Given the description of an element on the screen output the (x, y) to click on. 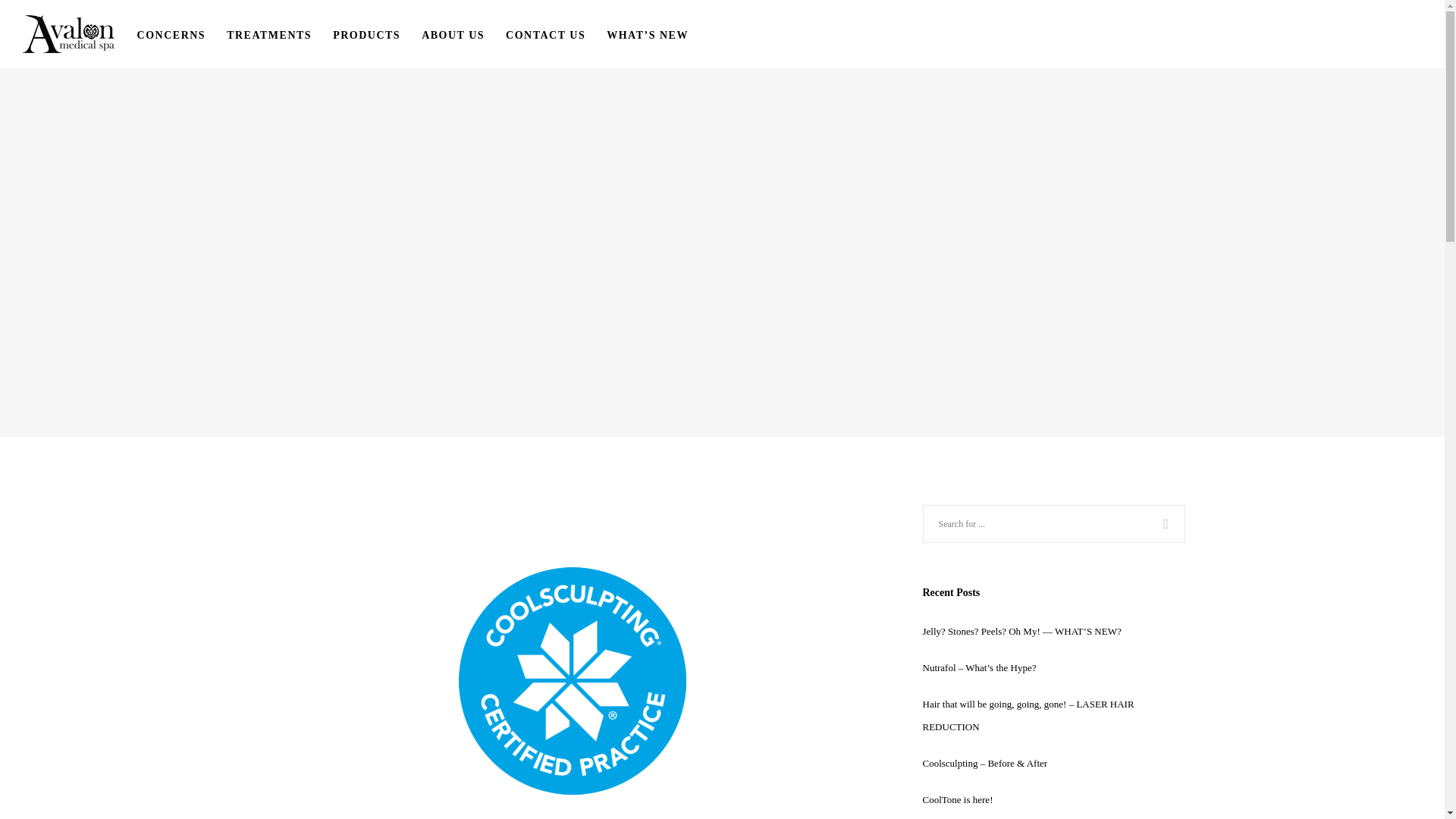
TREATMENTS (280, 33)
ABOUT US (463, 33)
PRODUCTS (377, 33)
CONTACT US (556, 33)
CONCERNS (181, 33)
CoolTone is here! (956, 799)
